Given the description of an element on the screen output the (x, y) to click on. 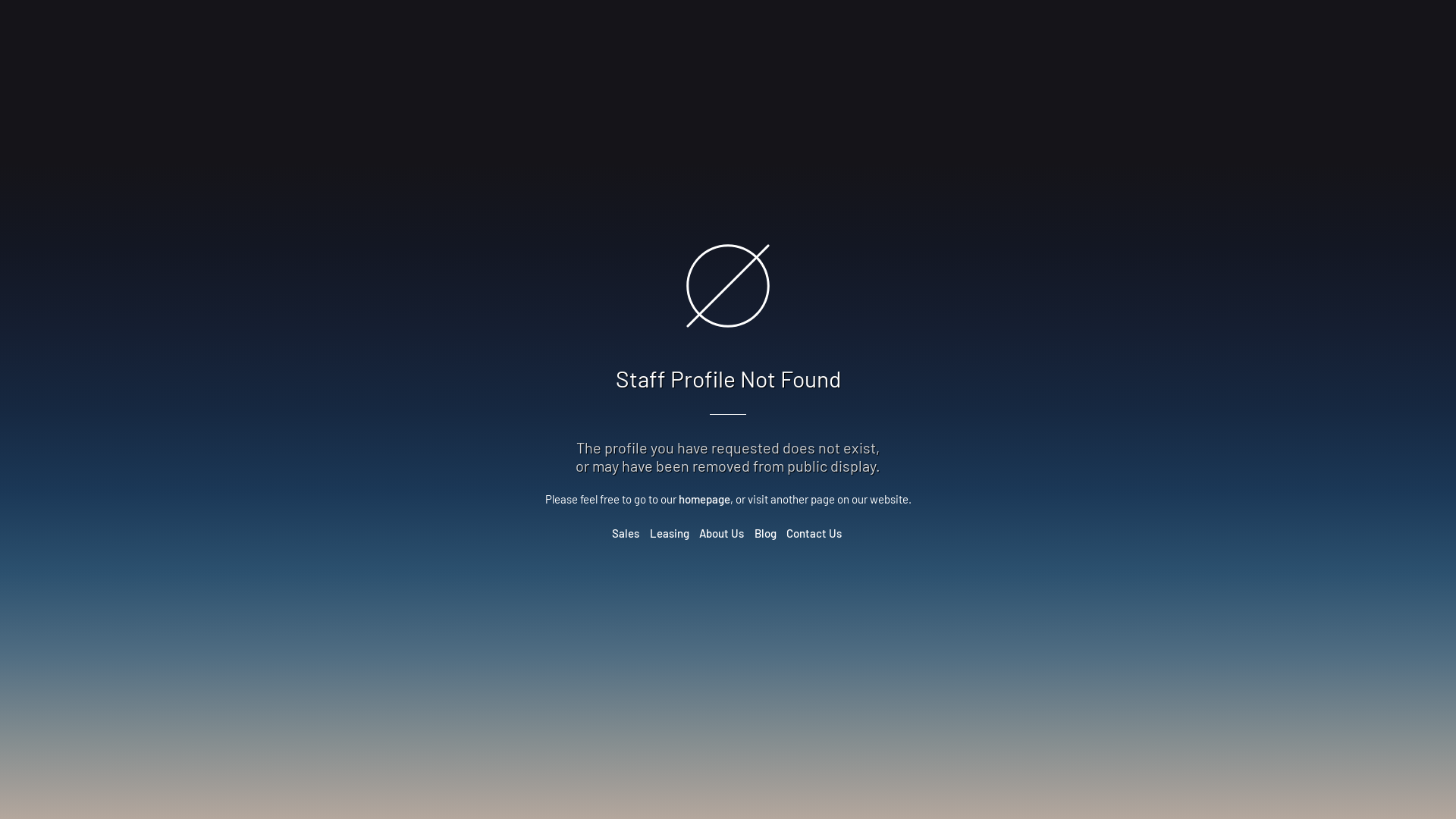
About Us Element type: text (721, 532)
Contact Us Element type: text (813, 532)
Leasing Element type: text (668, 532)
Blog Element type: text (764, 532)
homepage Element type: text (703, 498)
Sales Element type: text (625, 532)
